Given the description of an element on the screen output the (x, y) to click on. 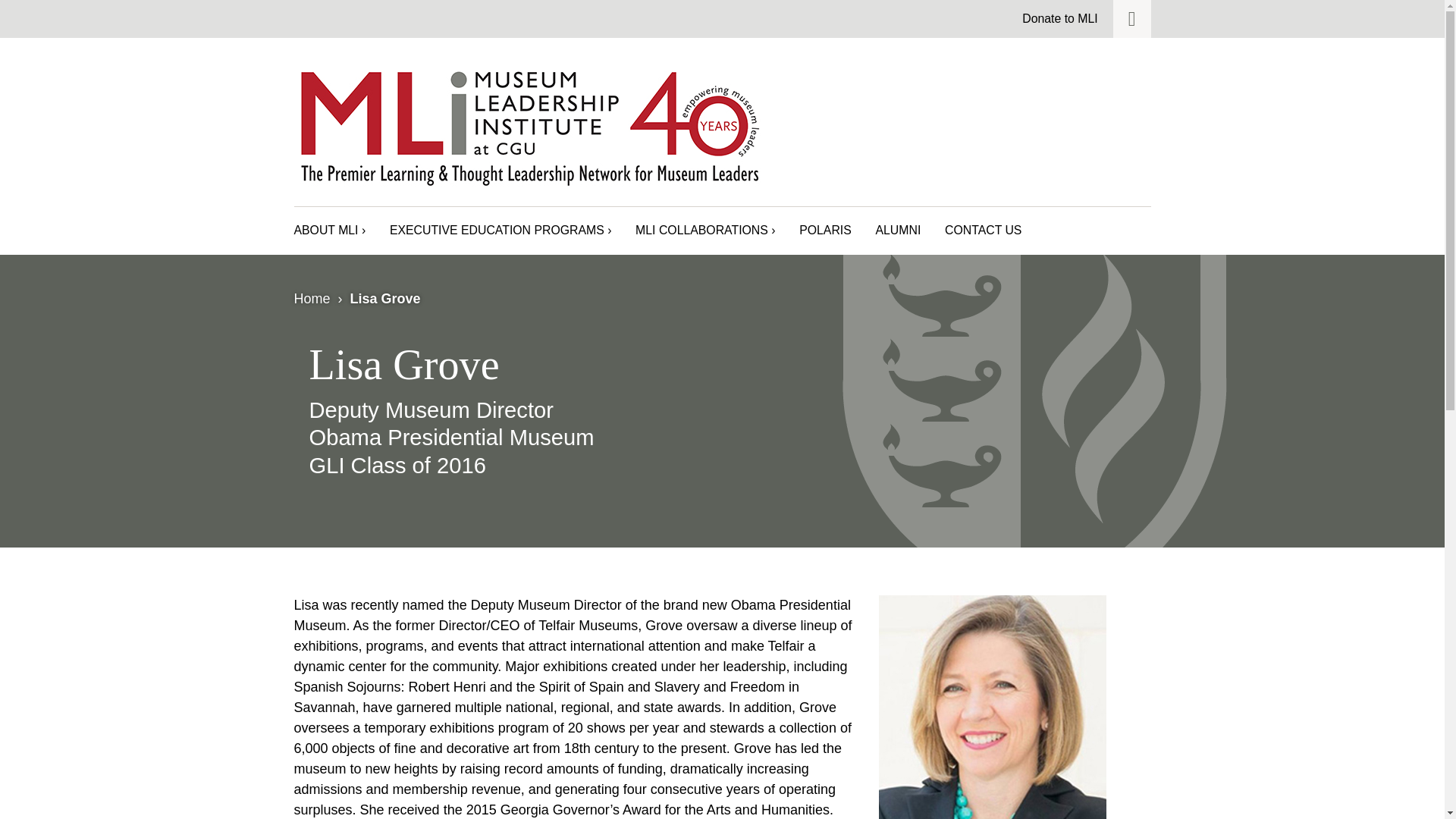
ALUMNI (897, 230)
CONTACT US (983, 230)
ABOUT MLI (330, 230)
Home (312, 298)
POLARIS (825, 230)
EXECUTIVE EDUCATION PROGRAMS (500, 230)
MLI COLLABORATIONS (704, 230)
open search field (1132, 18)
Donate to MLI (1059, 18)
Press Enter (1114, 179)
